Given the description of an element on the screen output the (x, y) to click on. 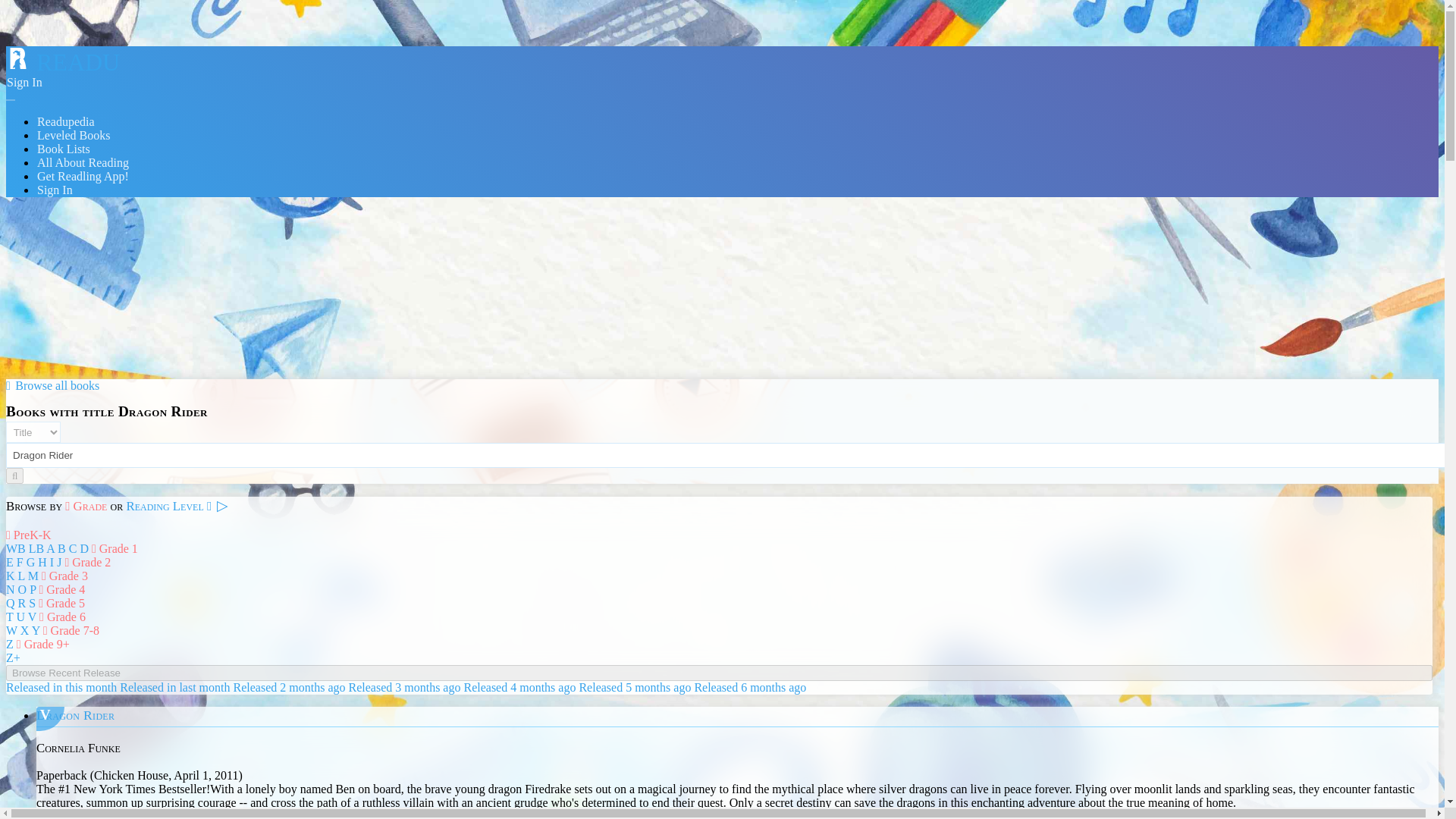
Grade 2 (87, 562)
PreK-K (27, 534)
READU (62, 62)
Reading Level (168, 505)
Grade 5 (61, 603)
All About Reading (82, 162)
Book Lists (63, 148)
Grade 1 (114, 548)
Leveled Books (73, 134)
WB (15, 548)
Get Readling App! (82, 175)
Sign In (24, 82)
Grade 4 (61, 589)
Sign In (55, 189)
LB (36, 548)
